Given the description of an element on the screen output the (x, y) to click on. 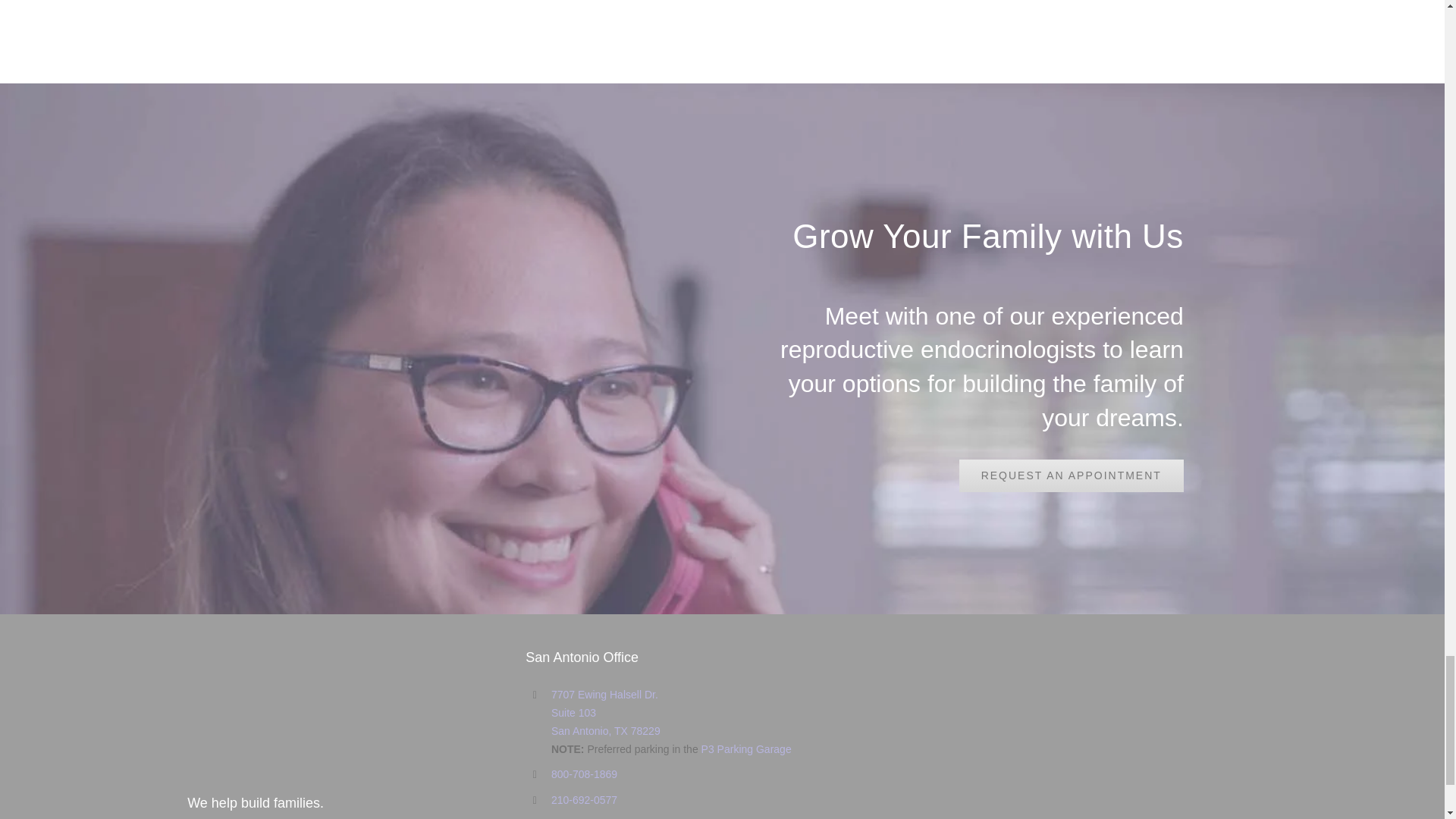
request appointment (1071, 475)
fertility-center-of-san-antonio-logo-white (270, 711)
